Given the description of an element on the screen output the (x, y) to click on. 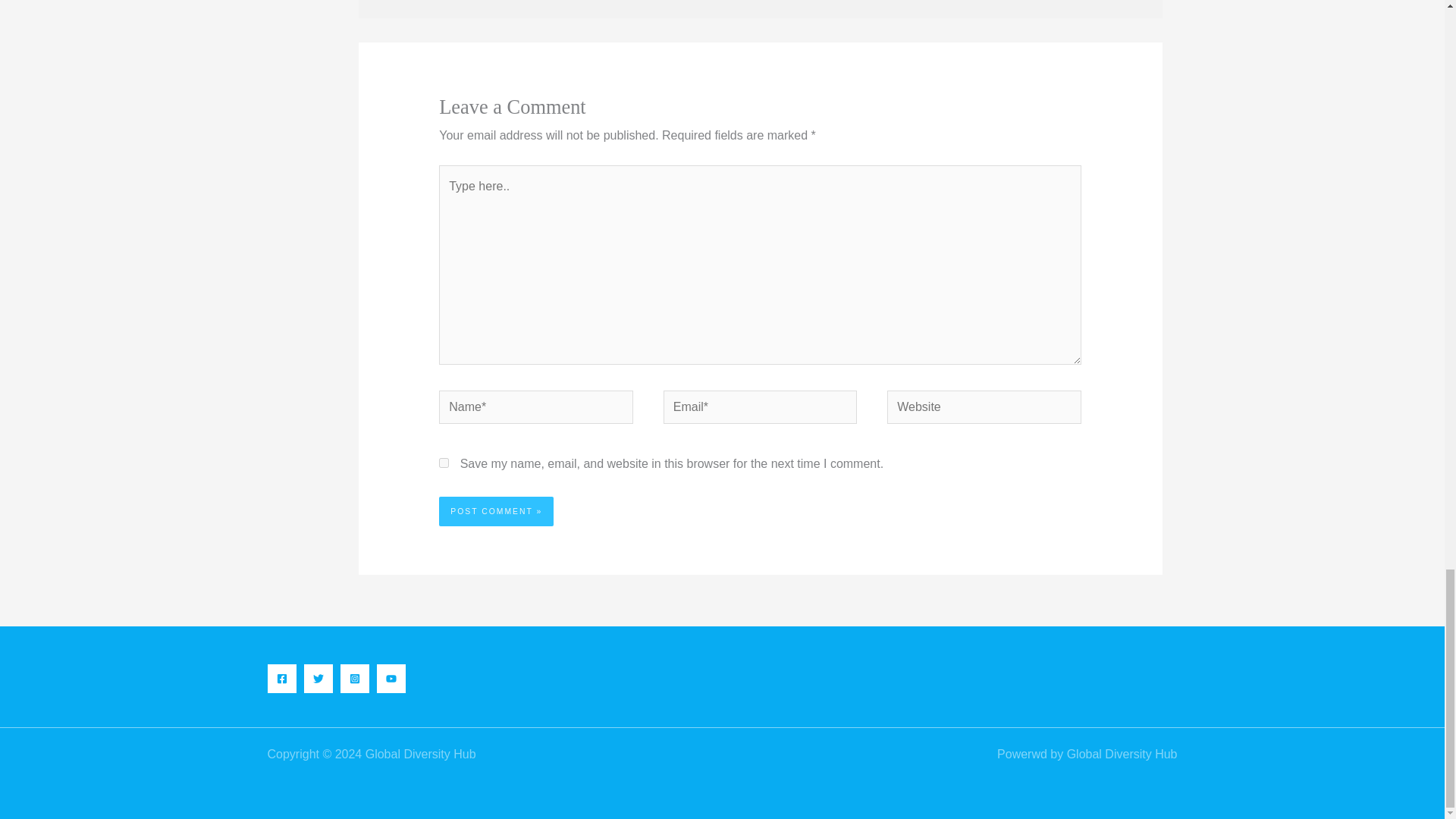
yes (443, 462)
